Given the description of an element on the screen output the (x, y) to click on. 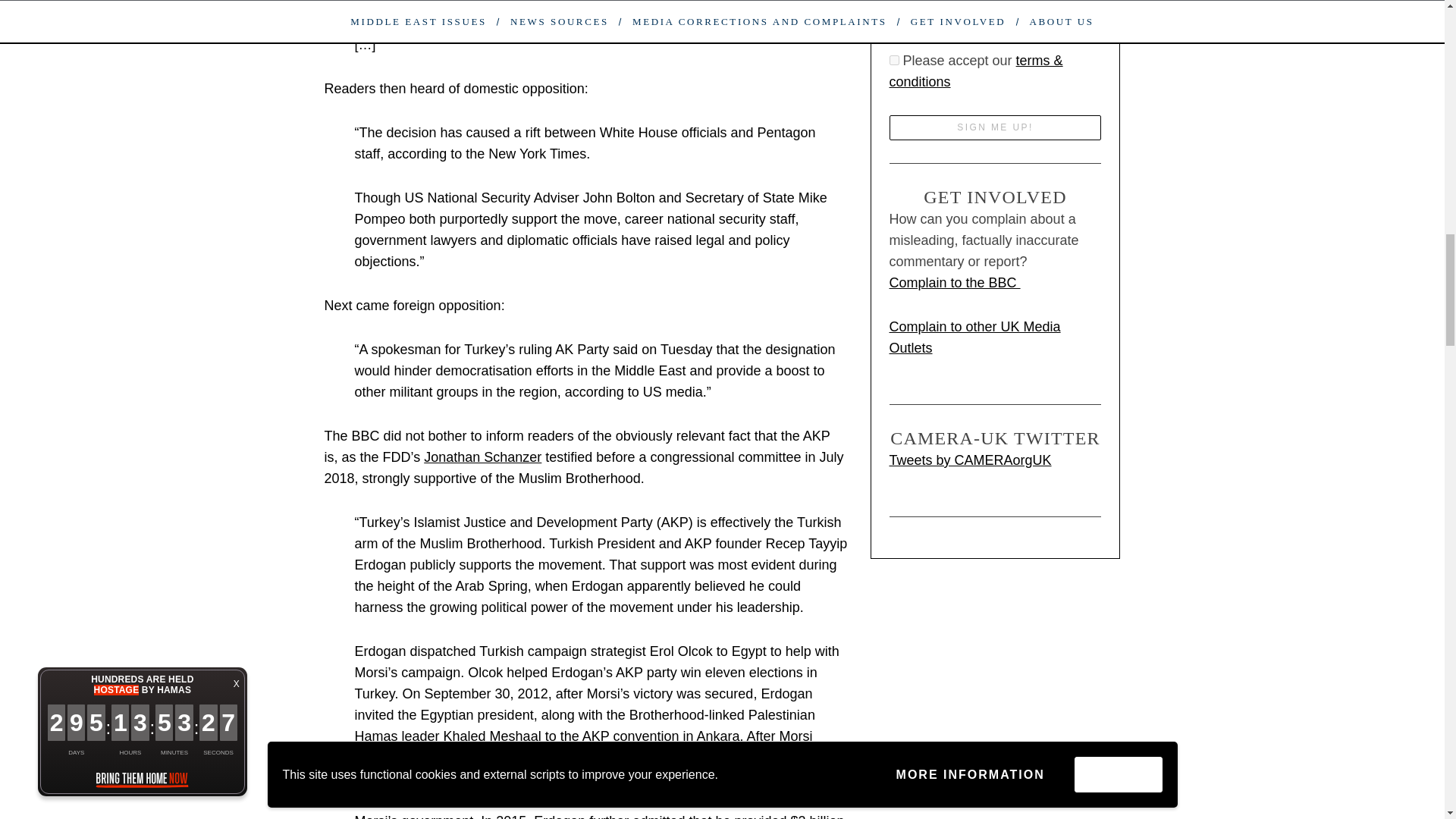
true (893, 60)
Sign me up! (994, 127)
Jonathan Schanzer (482, 457)
